Given the description of an element on the screen output the (x, y) to click on. 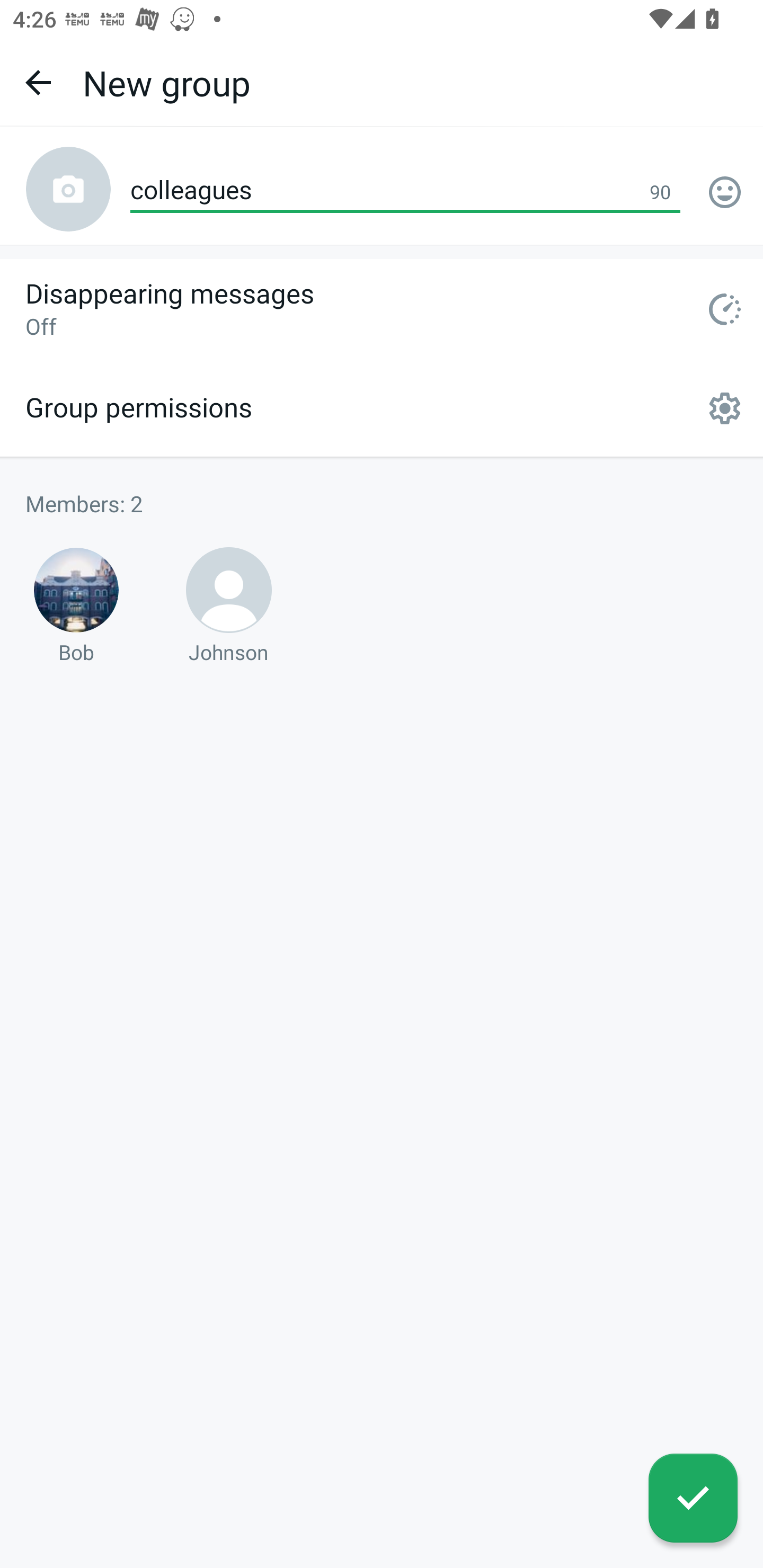
Navigate up (38, 82)
Group icon (68, 188)
Emoji (724, 191)
colleagues (404, 190)
Disappearing messages Off (381, 309)
Group permissions (381, 408)
Create (692, 1497)
